Given the description of an element on the screen output the (x, y) to click on. 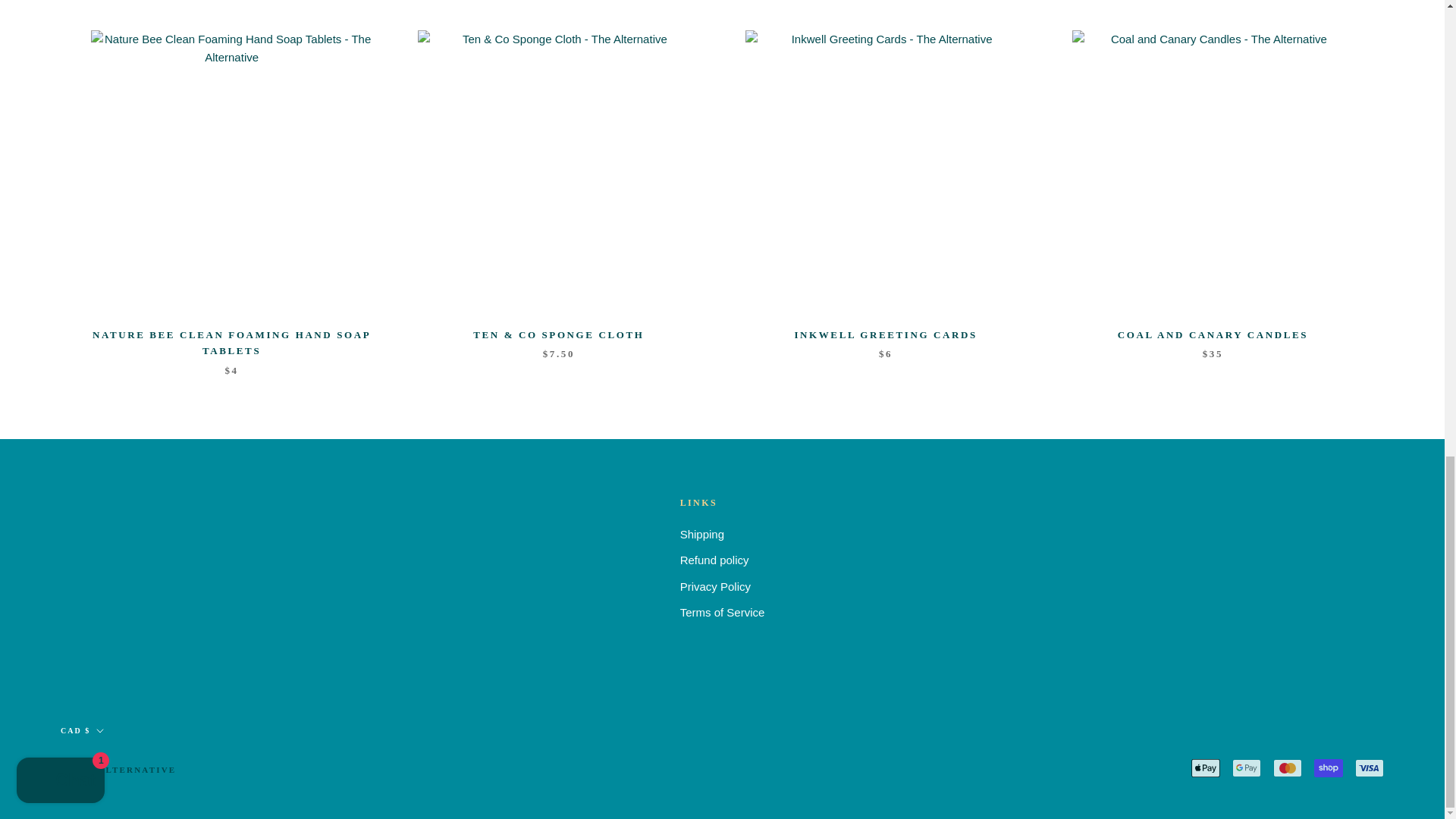
Google Pay (1245, 768)
Visa (1369, 768)
Apple Pay (1205, 768)
Shop Pay (1328, 768)
Mastercard (1286, 768)
